Given the description of an element on the screen output the (x, y) to click on. 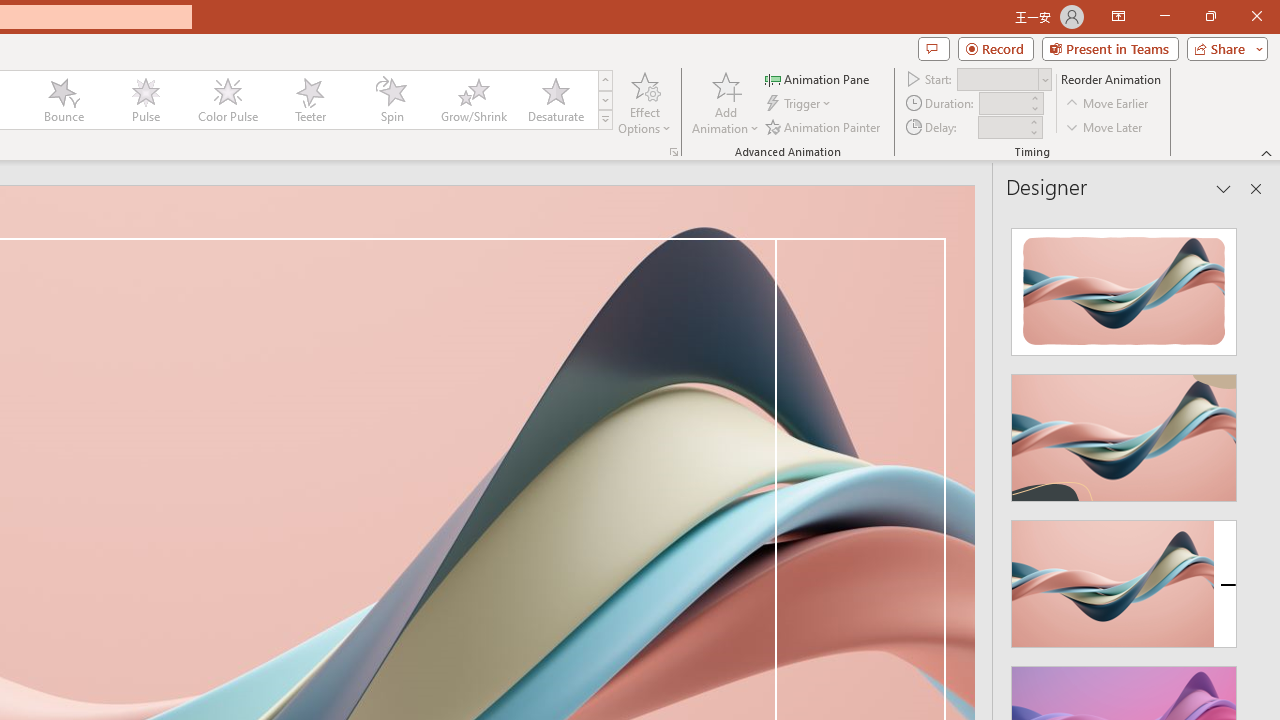
More Options... (673, 151)
Color Pulse (227, 100)
Desaturate (555, 100)
Animation Pane (818, 78)
Pulse (145, 100)
Recommended Design: Design Idea (1124, 286)
